Given the description of an element on the screen output the (x, y) to click on. 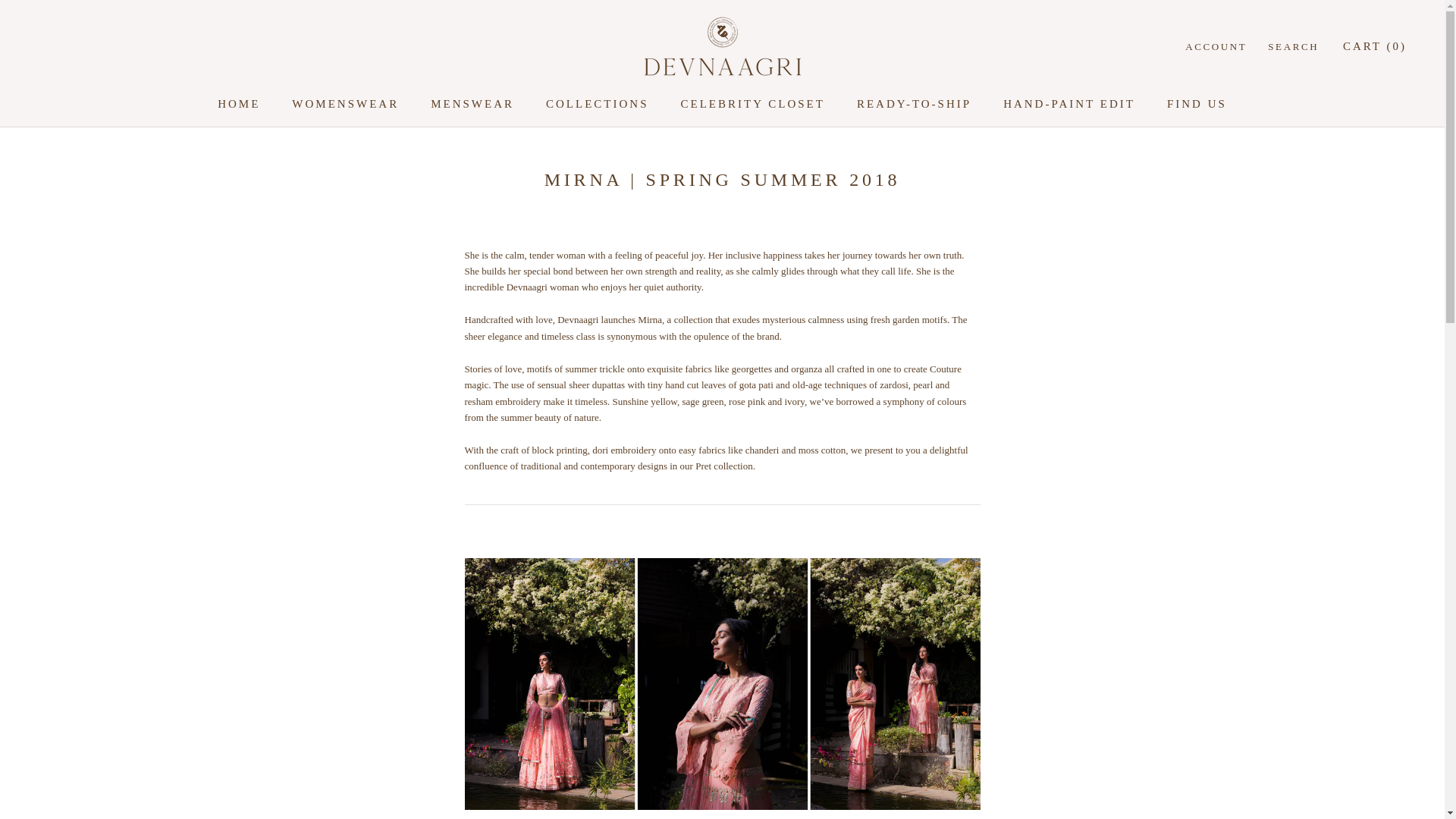
WOMENSWEAR (345, 103)
